Given the description of an element on the screen output the (x, y) to click on. 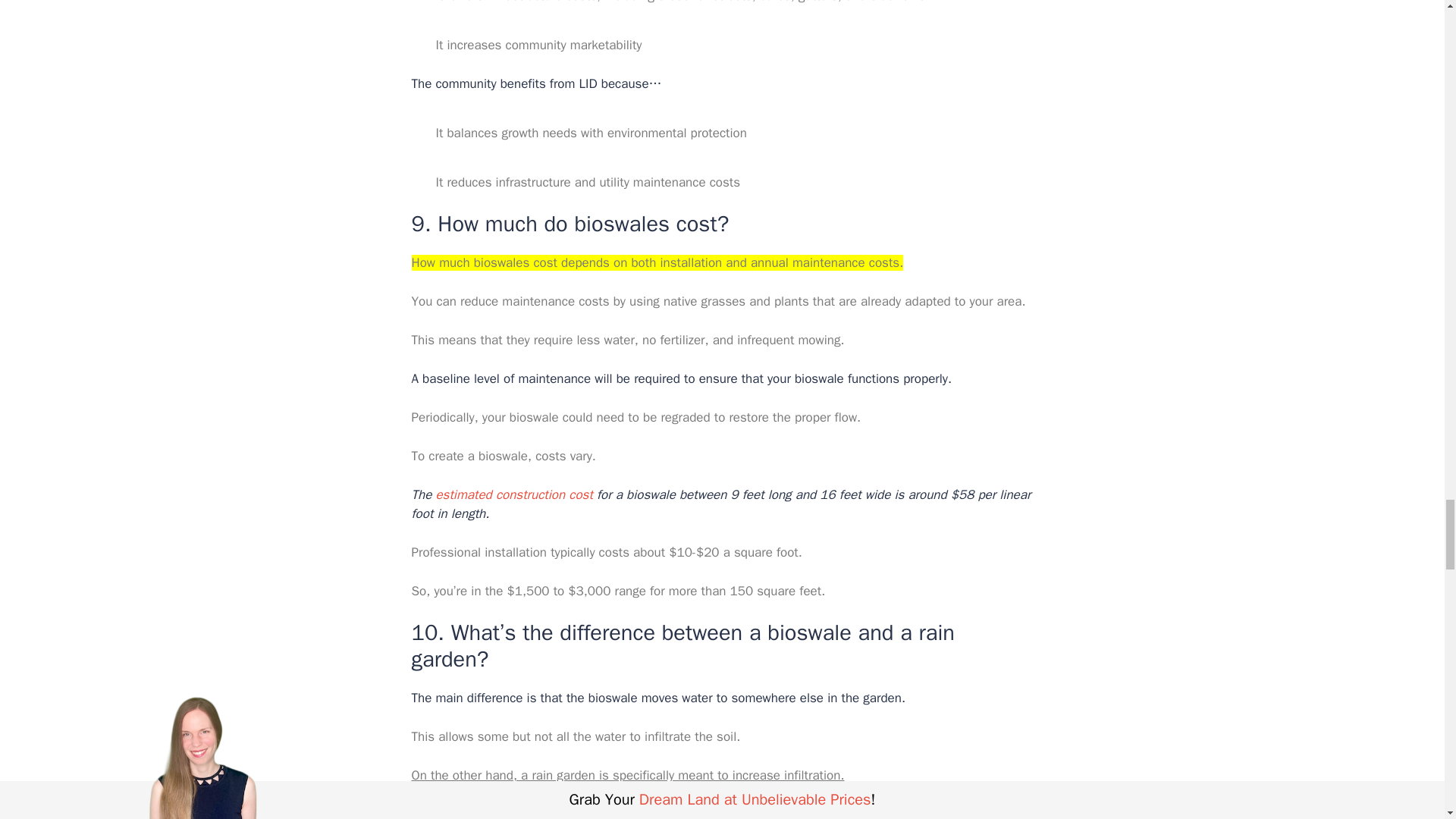
estimated construction cost (513, 494)
